Given the description of an element on the screen output the (x, y) to click on. 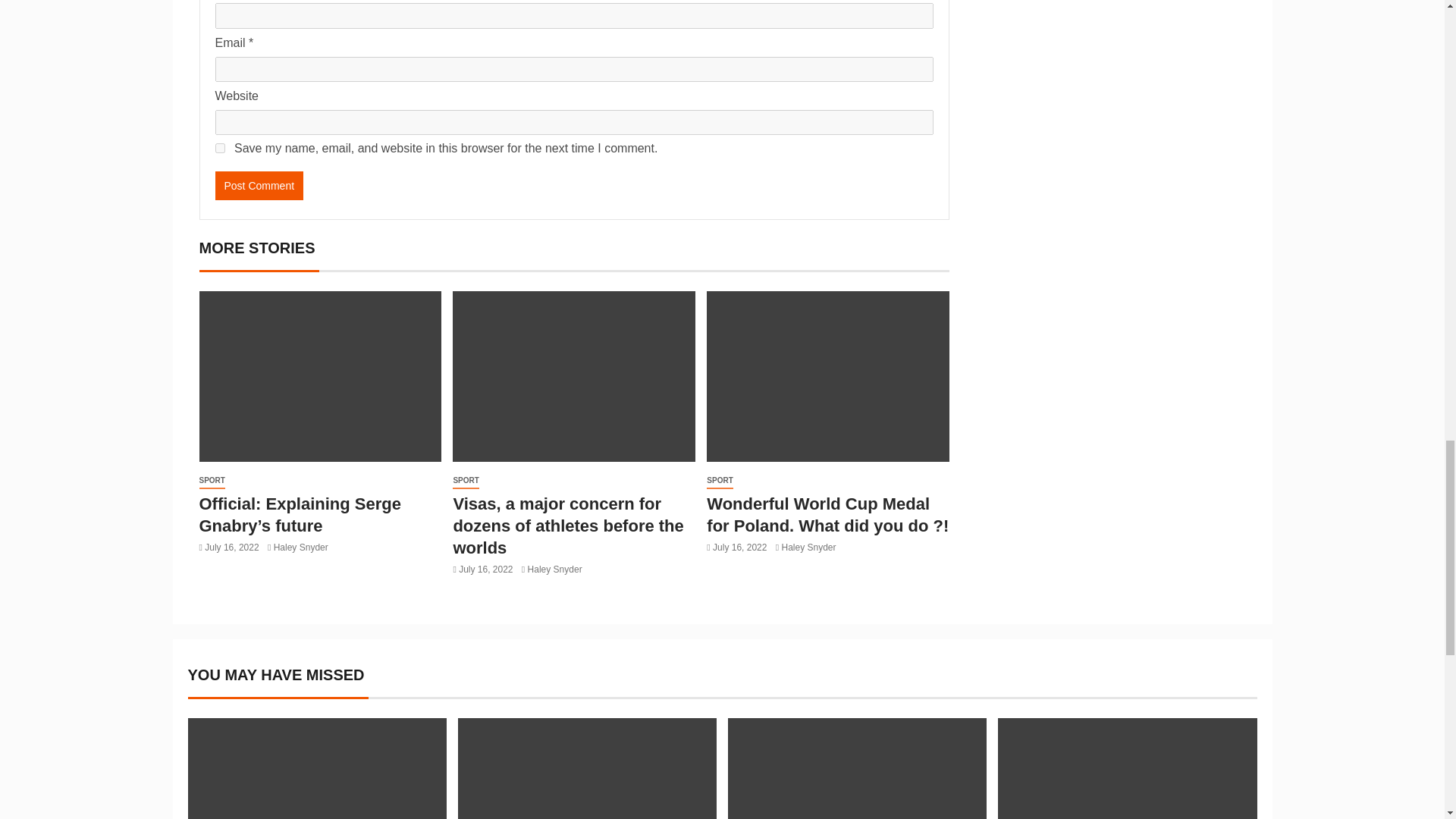
Post Comment (259, 185)
Post Comment (259, 185)
yes (220, 148)
SPORT (465, 480)
Haley Snyder (301, 547)
SPORT (211, 480)
